Given the description of an element on the screen output the (x, y) to click on. 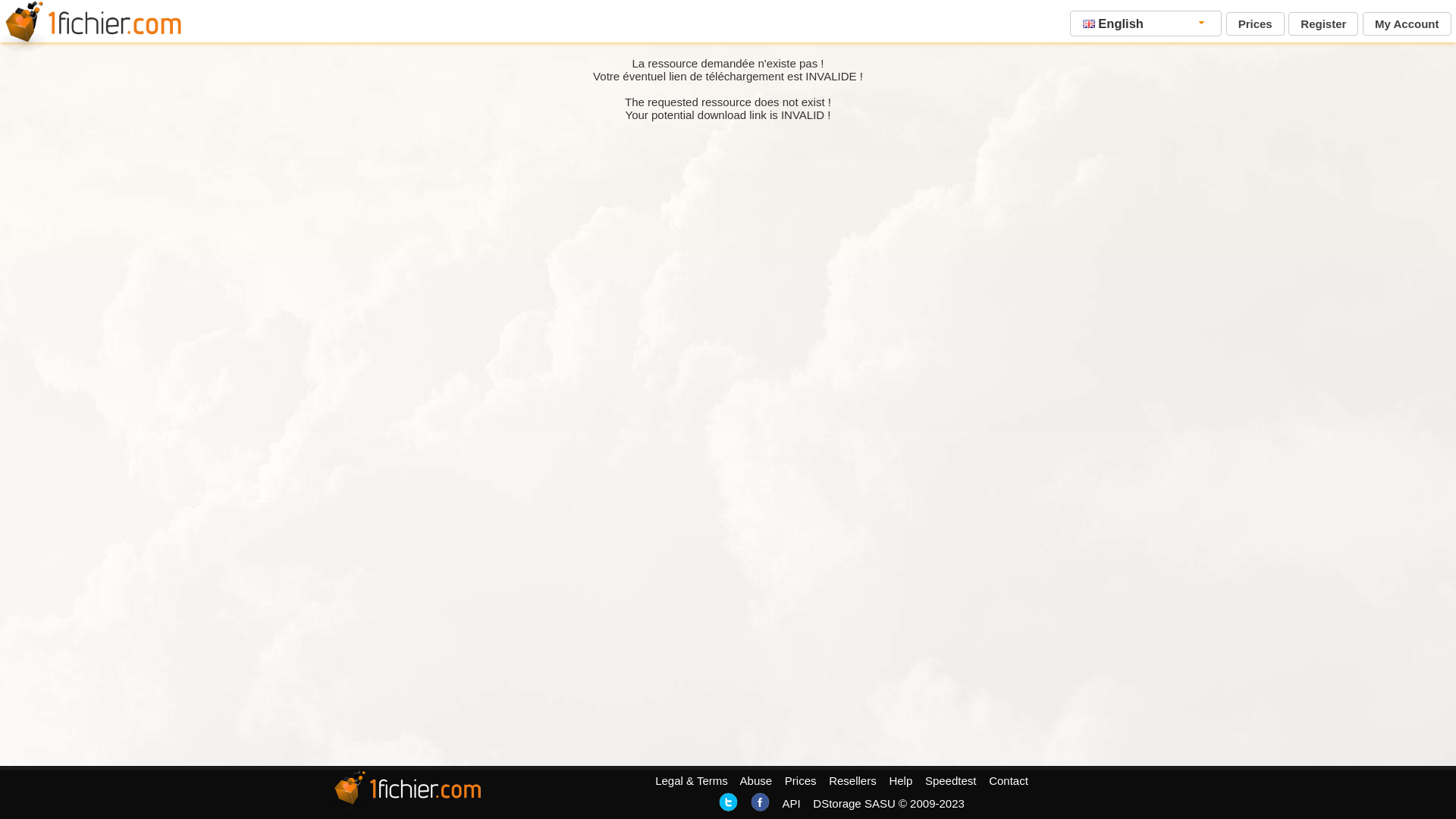
Speedtest Element type: text (950, 780)
Contact Element type: text (1008, 780)
Legal & Terms Element type: text (691, 780)
Help Element type: text (900, 780)
Prices Element type: text (1255, 23)
My Account Element type: text (1406, 23)
API Element type: text (790, 803)
Resellers Element type: text (852, 780)
Prices Element type: text (800, 780)
Register Element type: text (1323, 23)
Abuse Element type: text (756, 780)
